Given the description of an element on the screen output the (x, y) to click on. 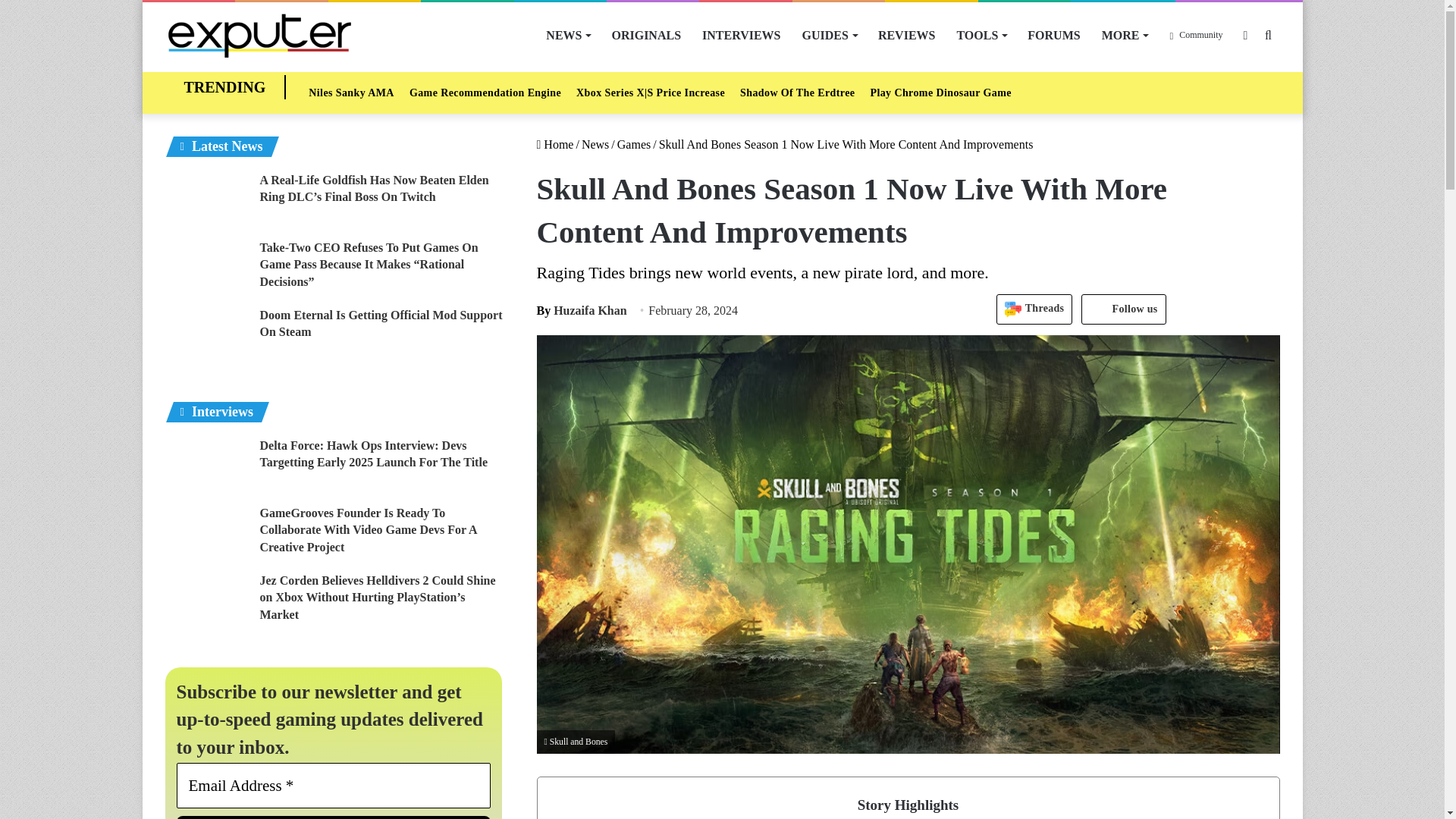
FORUMS (1053, 35)
NEWS (567, 35)
GUIDES (829, 35)
INTERVIEWS (740, 35)
eXputer.com (259, 34)
TOOLS (980, 35)
REVIEWS (906, 35)
ORIGINALS (645, 35)
Huzaifa Khan (582, 309)
